Given the description of an element on the screen output the (x, y) to click on. 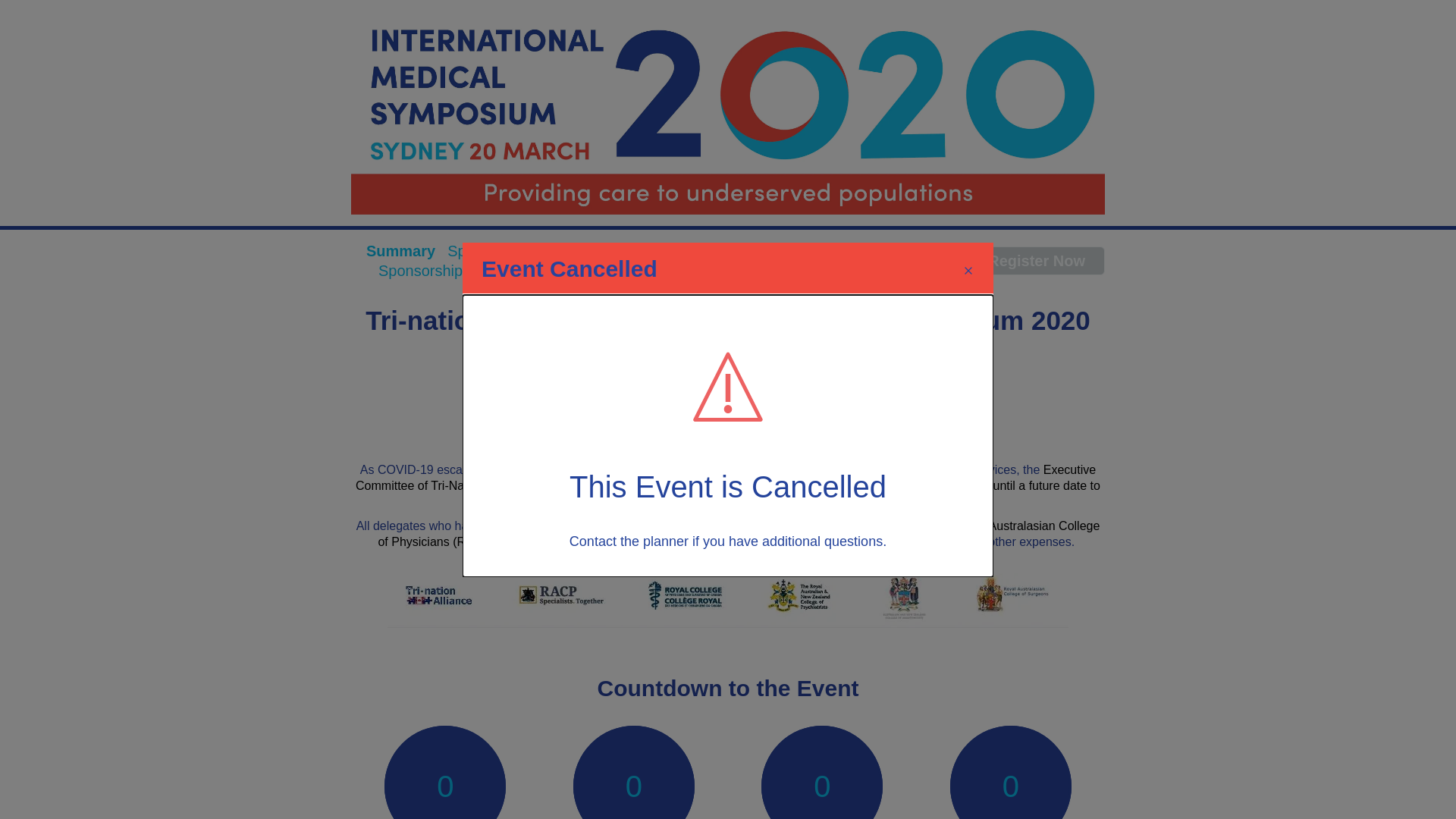
Register Now Element type: text (1036, 260)
